Given the description of an element on the screen output the (x, y) to click on. 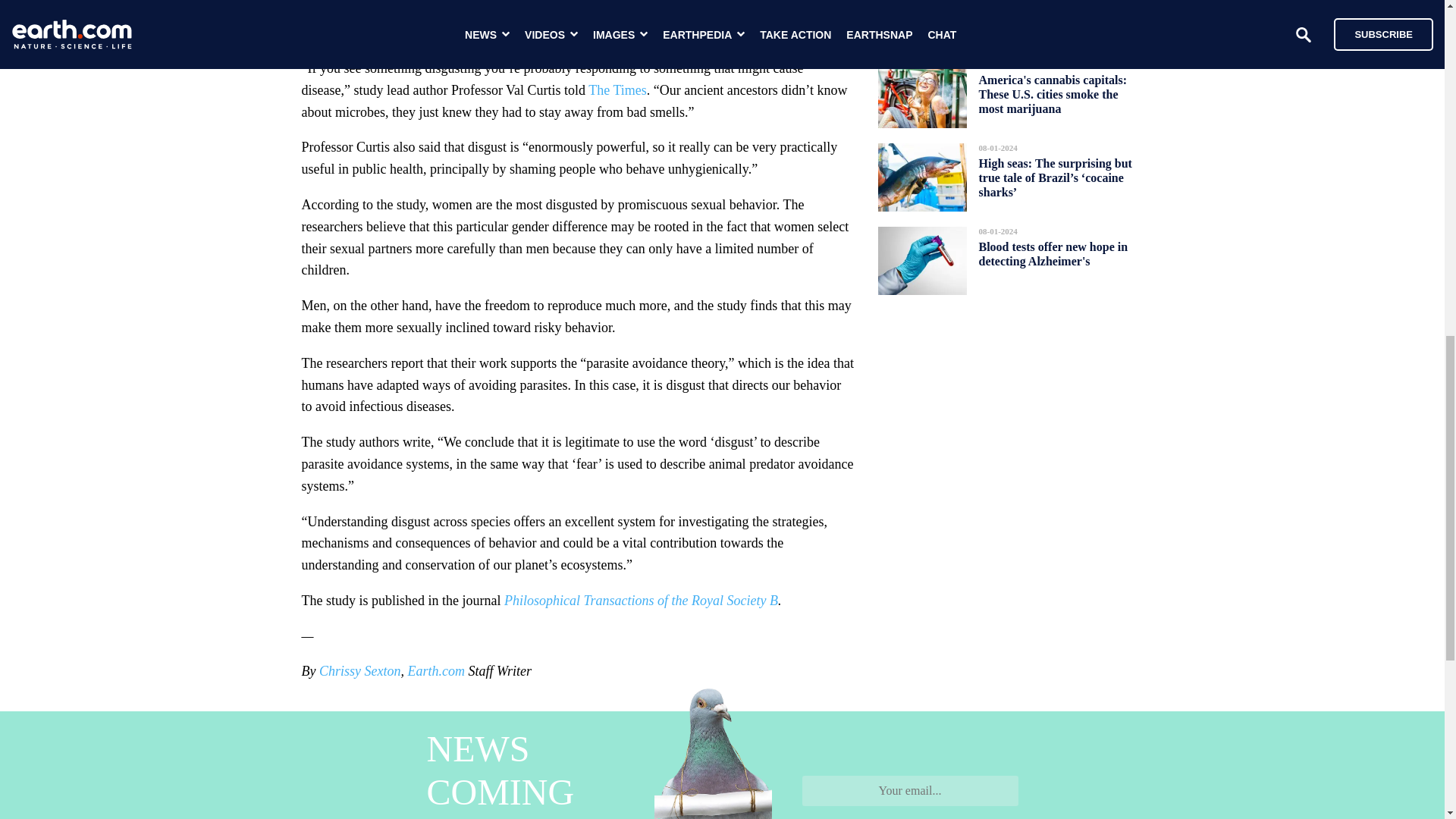
Philosophical Transactions of the Royal Society B (638, 600)
Blood tests offer new hope in detecting Alzheimer's (1052, 253)
The Times (617, 89)
Earth.com (435, 670)
Chrissy Sexton (359, 670)
